Given the description of an element on the screen output the (x, y) to click on. 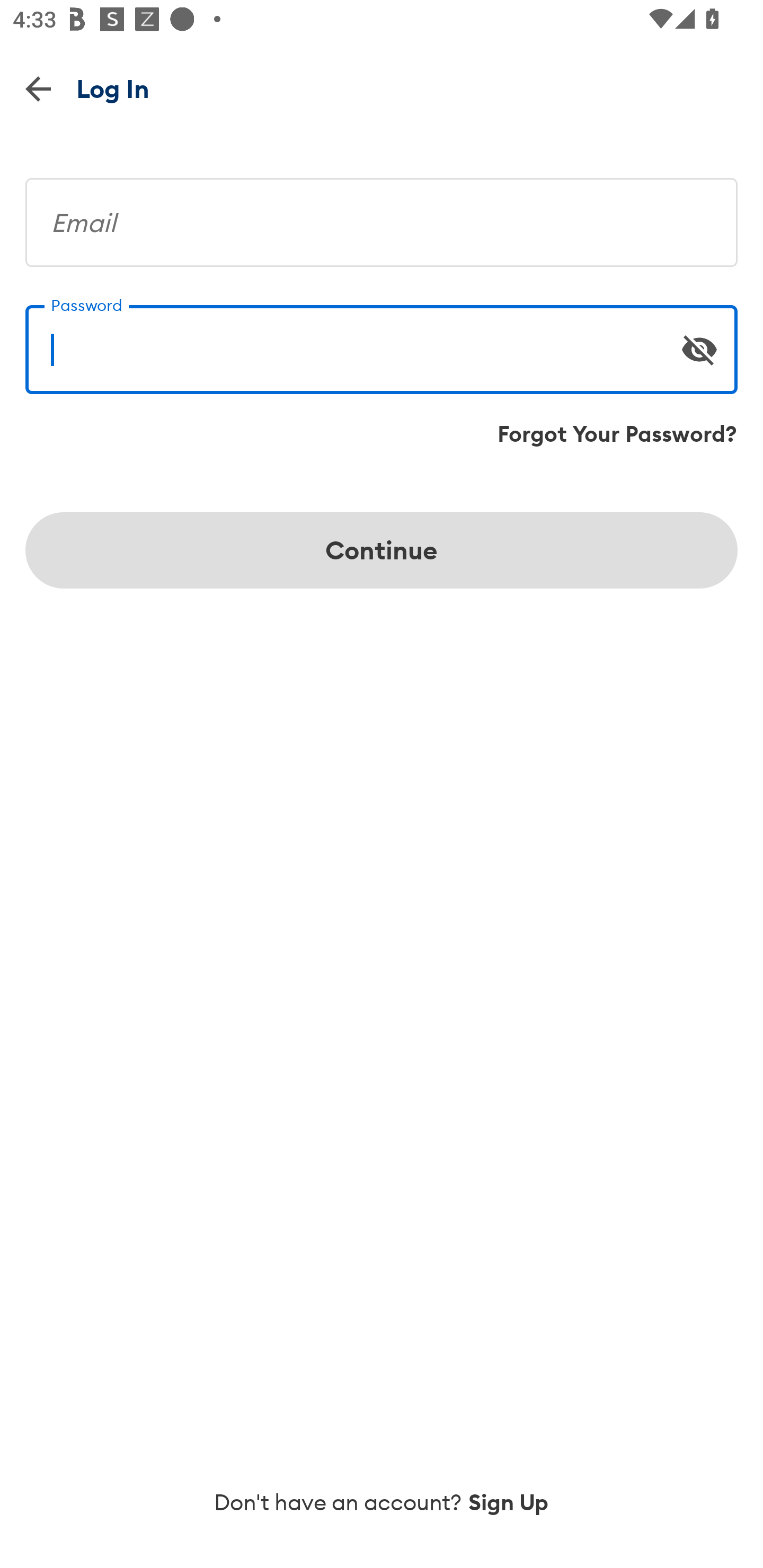
Back (38, 88)
Email (381, 215)
Password (381, 342)
Forgot Your Password? (617, 433)
Continue (381, 550)
Sign Up (508, 1502)
